Given the description of an element on the screen output the (x, y) to click on. 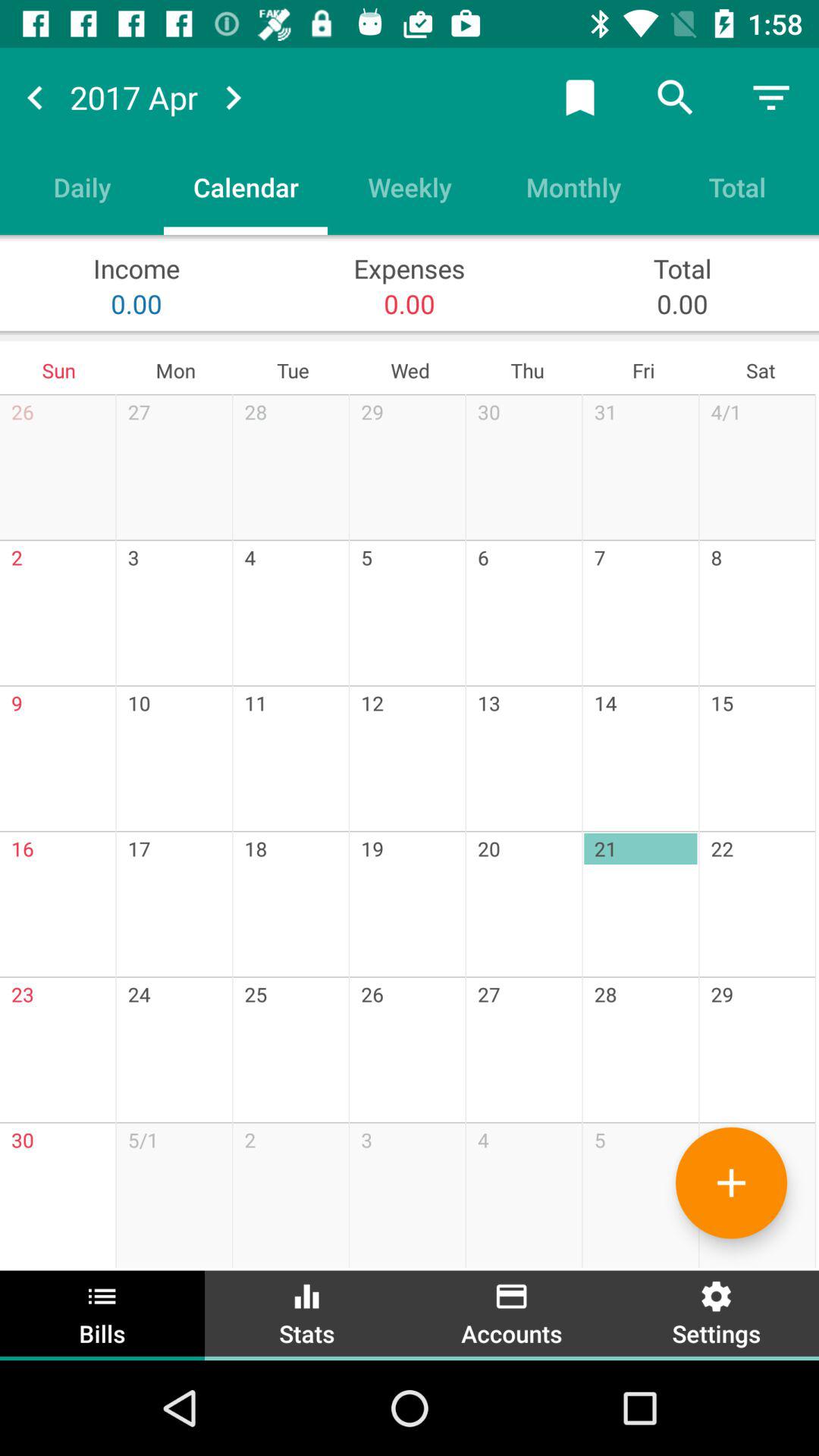
scroll months forward (232, 97)
